Given the description of an element on the screen output the (x, y) to click on. 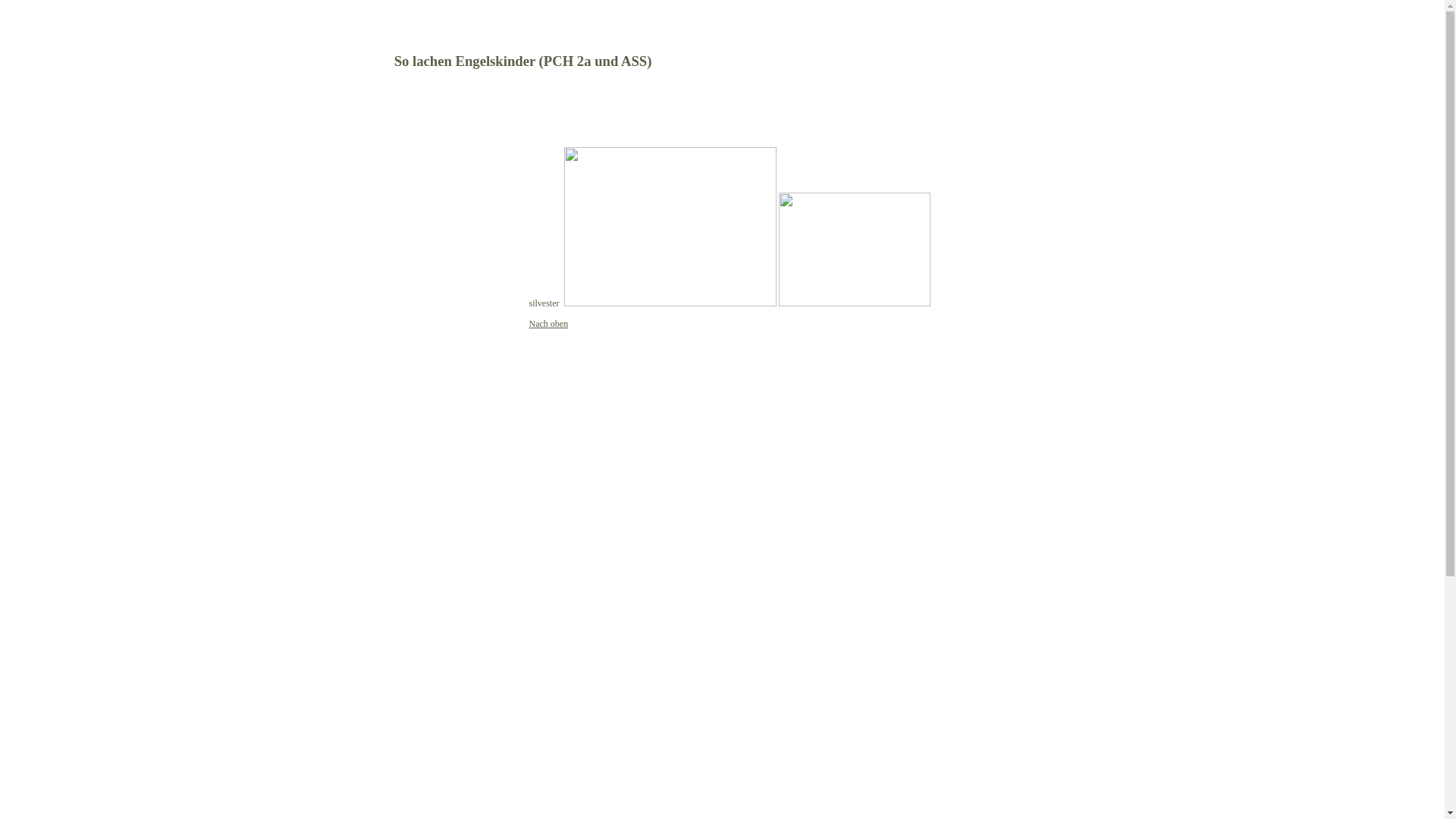
Oktober - Dezember Element type: text (383, 532)
Kontakt mit mir/uns Element type: text (384, 237)
Mein 1. Buch "So lachen Engel" Element type: text (407, 339)
Okt- Dez. Element type: text (362, 775)
Oktober - Dezember Element type: text (383, 593)
Blog Juli - Dez. 2009 Element type: text (383, 487)
Blog 2008 Element type: text (363, 456)
April - Juni Element type: text (366, 563)
April - Juni Element type: text (366, 805)
Tagebuch Juli - Sept. 2010 Element type: text (395, 517)
Okt. - Dez. Element type: text (364, 714)
Florin Elias Element type: text (366, 282)
Blog Jan. - Juni 2009 Element type: text (385, 472)
April - Juni Element type: text (366, 745)
Mein 2. Buch: "Dein Lachen fehlt mir" Element type: text (409, 360)
April - Juni Element type: text (366, 684)
Kontakt Element type: text (360, 221)
April - Juni Element type: text (366, 623)
Juli - Sept. Element type: text (364, 760)
Herzlich Willkommen in unserem Leben... Element type: text (409, 171)
Nach oben Element type: text (548, 323)
Juli - Sept. Element type: text (364, 638)
Blog Wie alles begann... 2006 - .2007 Element type: text (414, 426)
Juli - Sept. Element type: text (364, 699)
Blog Jan. - 15.Juli 2010 Element type: text (389, 502)
Linkliste Element type: text (361, 191)
Galerie Element type: text (358, 381)
Blog Juni 2007 - Dez. 2007 Element type: text (395, 441)
Okt. - Dez. Element type: text (364, 654)
Juli -September Element type: text (375, 578)
Diagnose: PCH 2a Element type: text (379, 297)
